Given the description of an element on the screen output the (x, y) to click on. 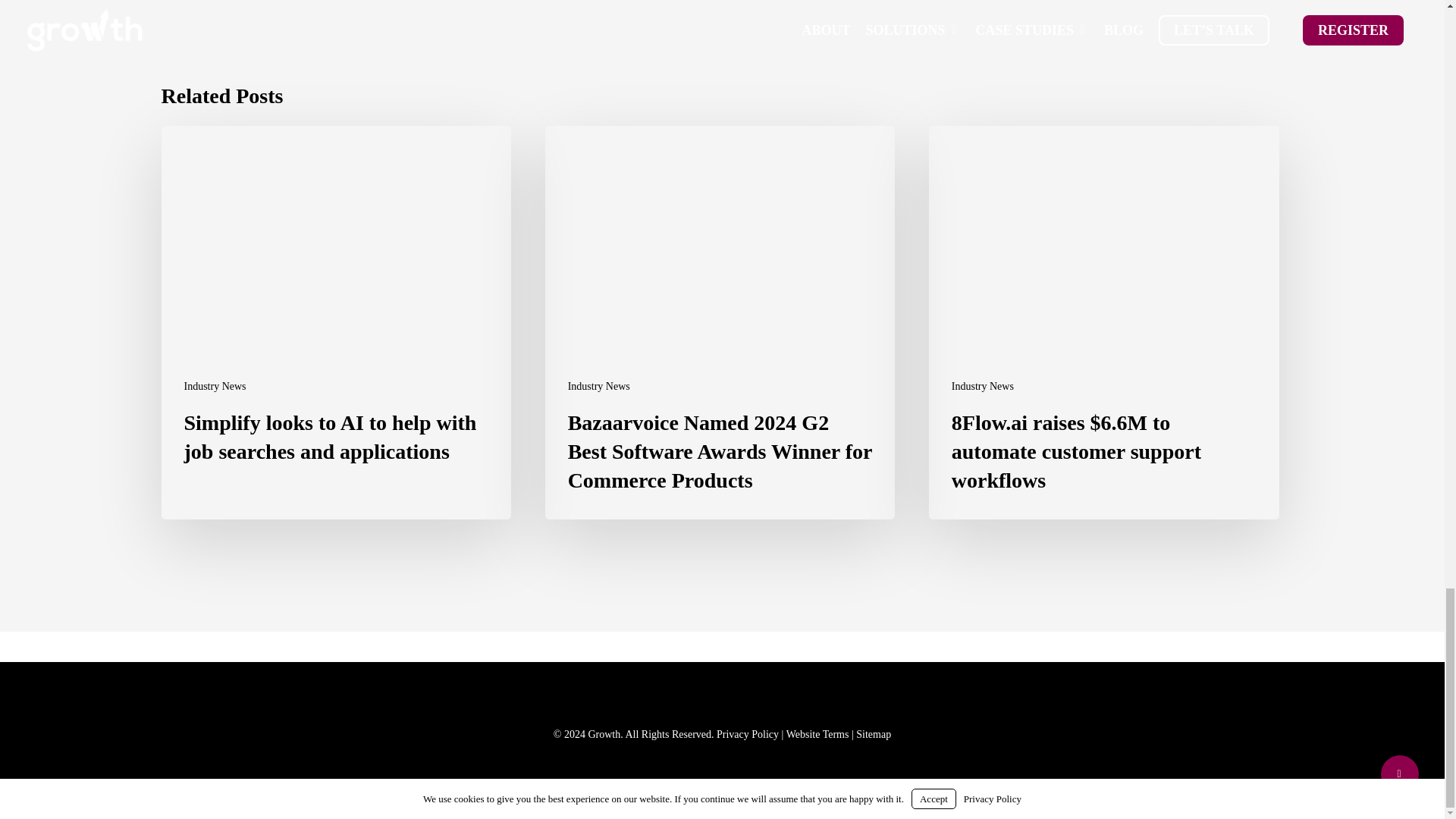
Industry News (982, 386)
Industry News (214, 386)
Industry News (598, 386)
